Given the description of an element on the screen output the (x, y) to click on. 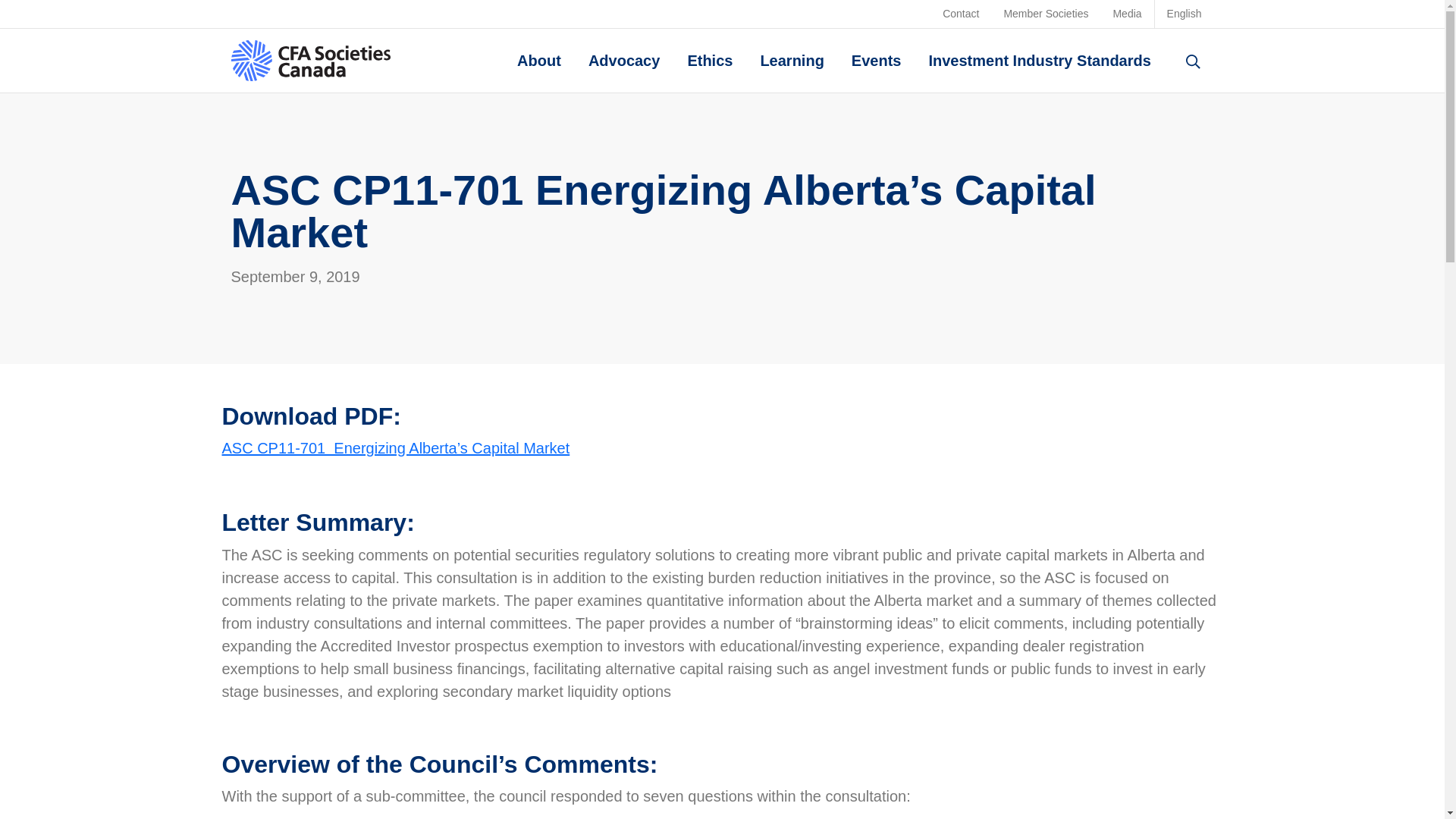
Learning (791, 60)
Contact (960, 13)
Ethics (709, 60)
Investment Industry Standards (1038, 60)
Member Societies (1045, 13)
Media (1126, 13)
English (1184, 13)
Events (876, 60)
Advocacy (624, 60)
About (539, 60)
